Given the description of an element on the screen output the (x, y) to click on. 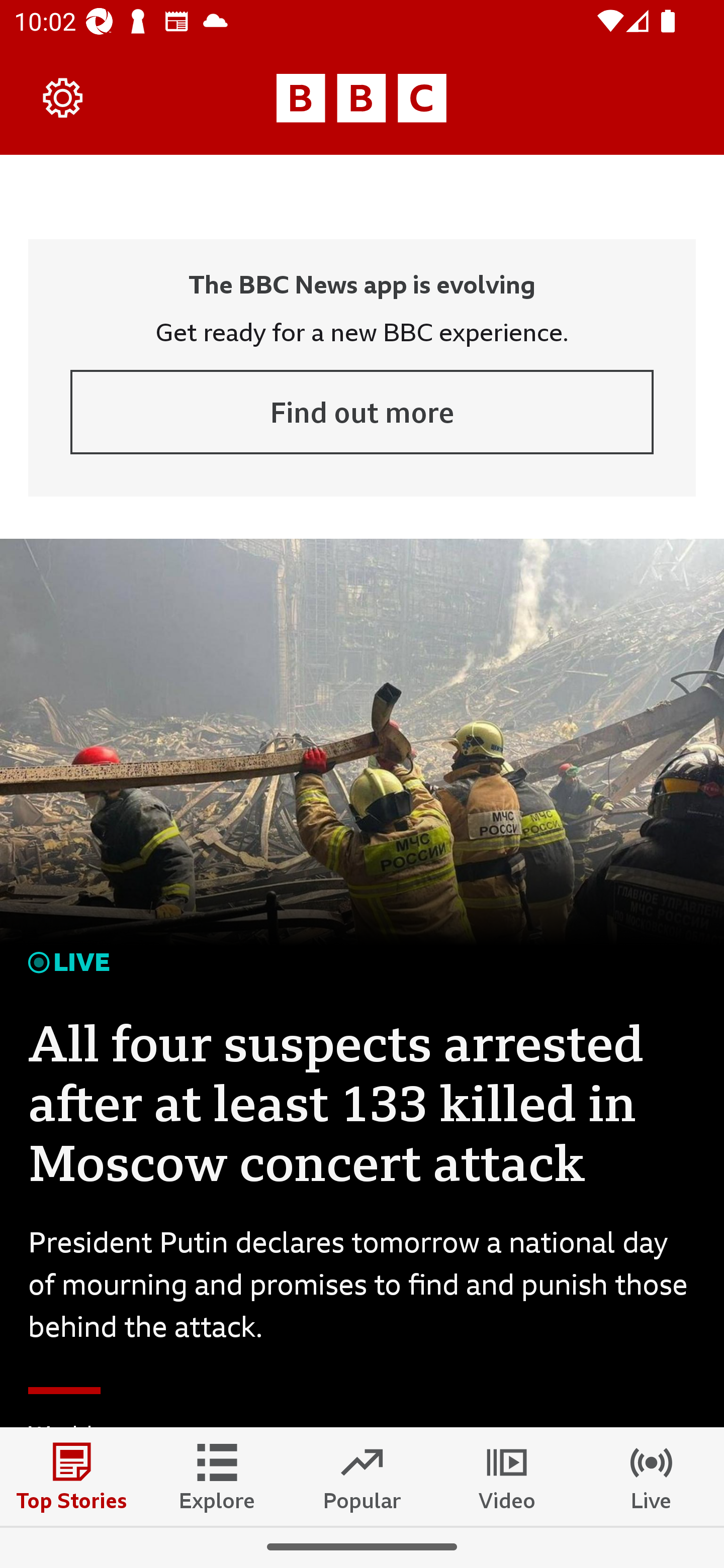
Settings (63, 97)
Find out more (361, 412)
Explore (216, 1475)
Popular (361, 1475)
Video (506, 1475)
Live (651, 1475)
